Given the description of an element on the screen output the (x, y) to click on. 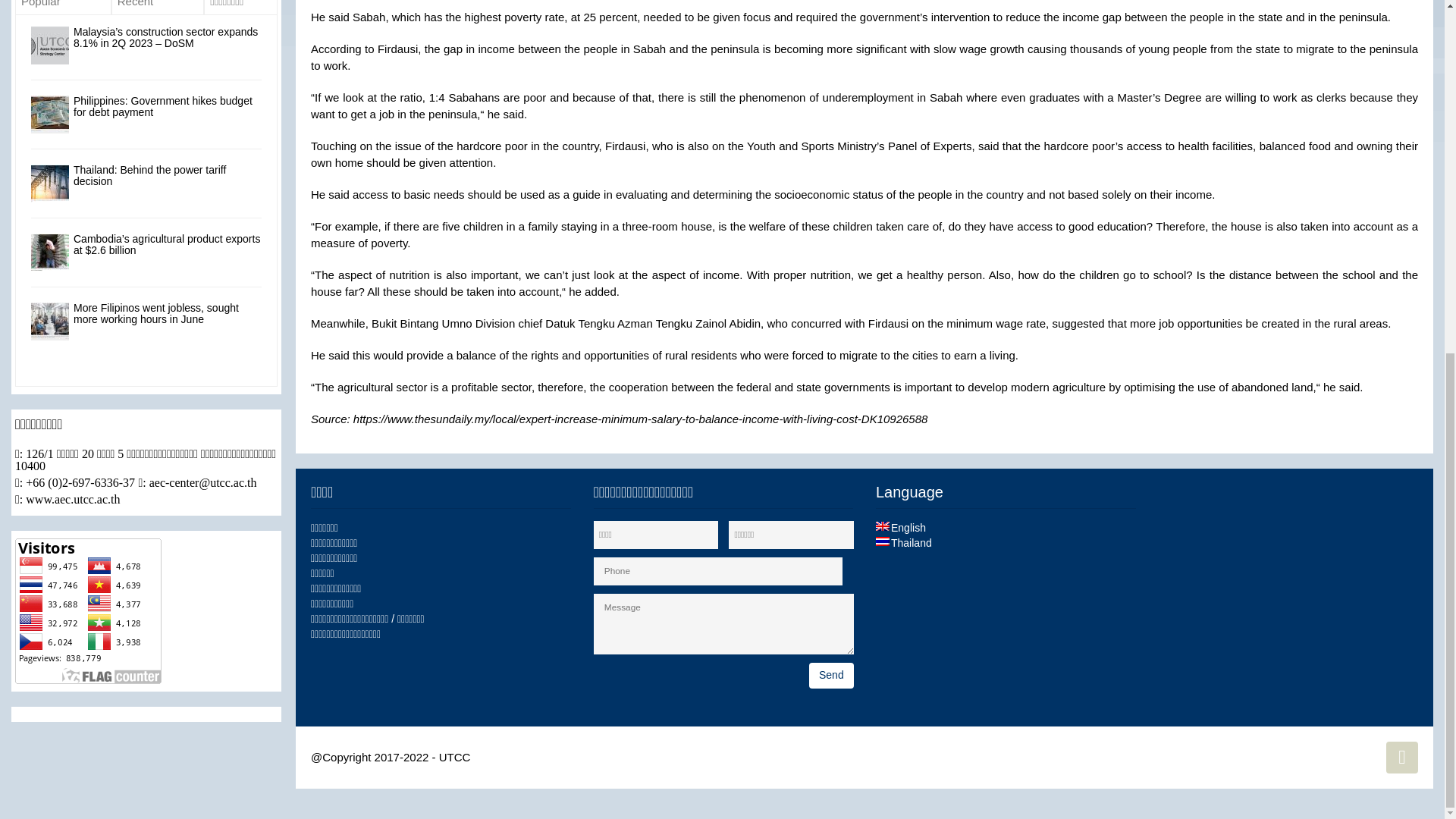
Send (831, 675)
